Given the description of an element on the screen output the (x, y) to click on. 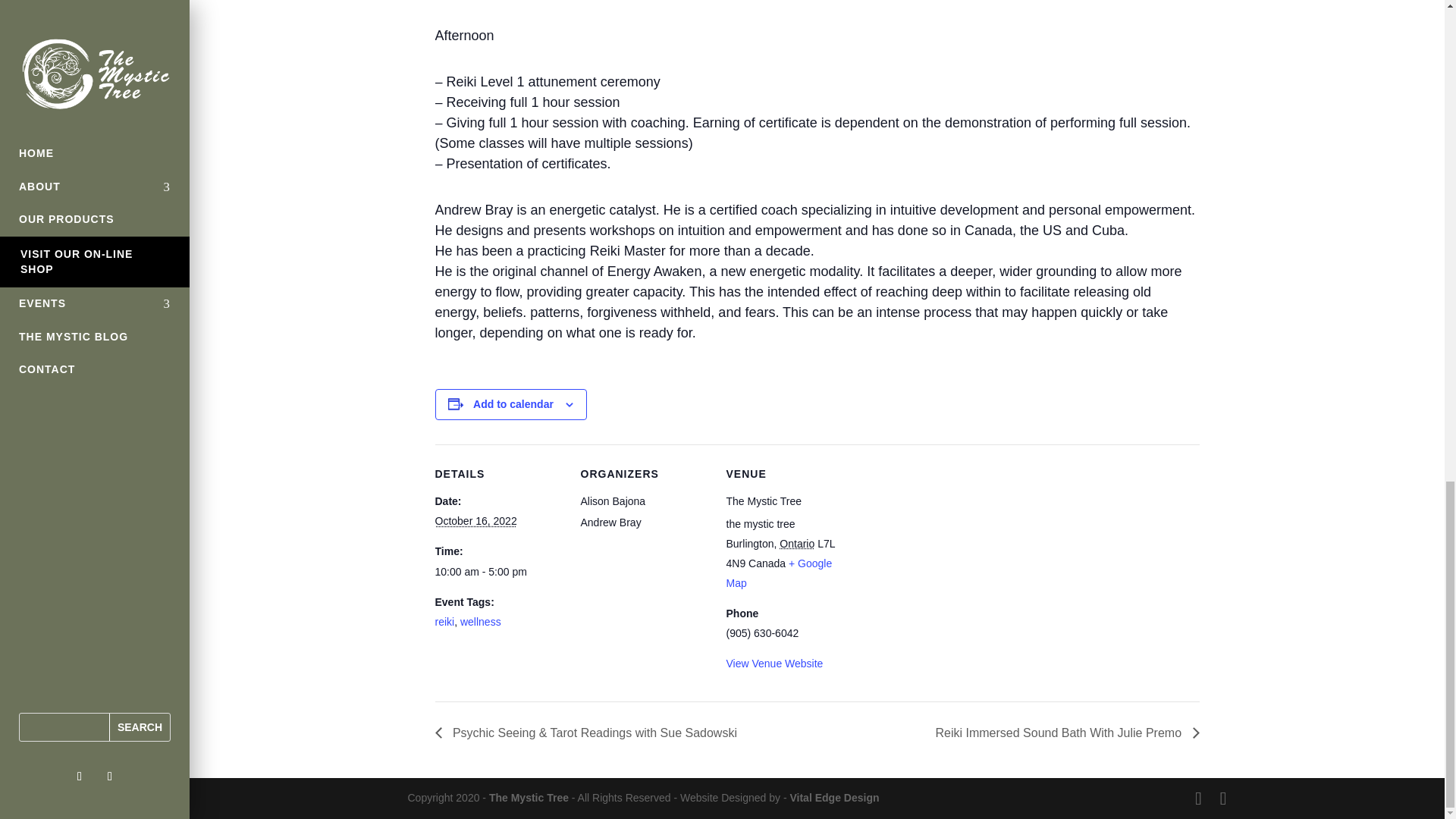
Click to view a Google Map (779, 572)
Ontario (795, 543)
Google maps iframe displaying the address to The Mystic Tree (952, 548)
2022-10-16 (475, 521)
2022-10-16 (498, 572)
